Given the description of an element on the screen output the (x, y) to click on. 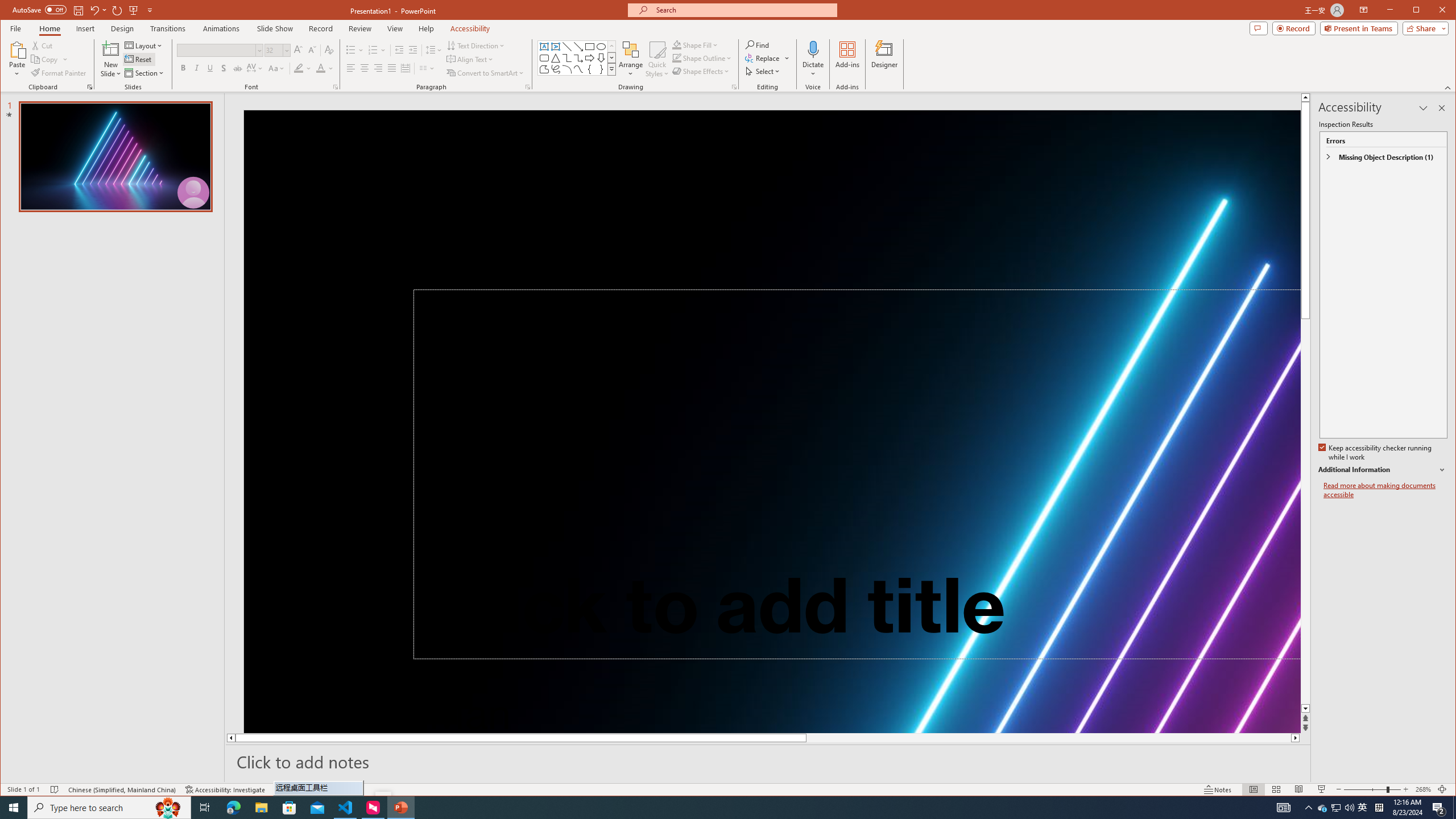
Paragraph... (527, 86)
Microsoft Edge (233, 807)
Designer (884, 59)
Shape Fill (695, 44)
File Explorer (261, 807)
Convert to SmartArt (485, 72)
Shape Fill Orange, Accent 2 (676, 44)
Character Spacing (254, 68)
Task View (204, 807)
Text Highlight Color Yellow (298, 68)
Connector: Elbow (567, 57)
Search highlights icon opens search home window (167, 807)
